Given the description of an element on the screen output the (x, y) to click on. 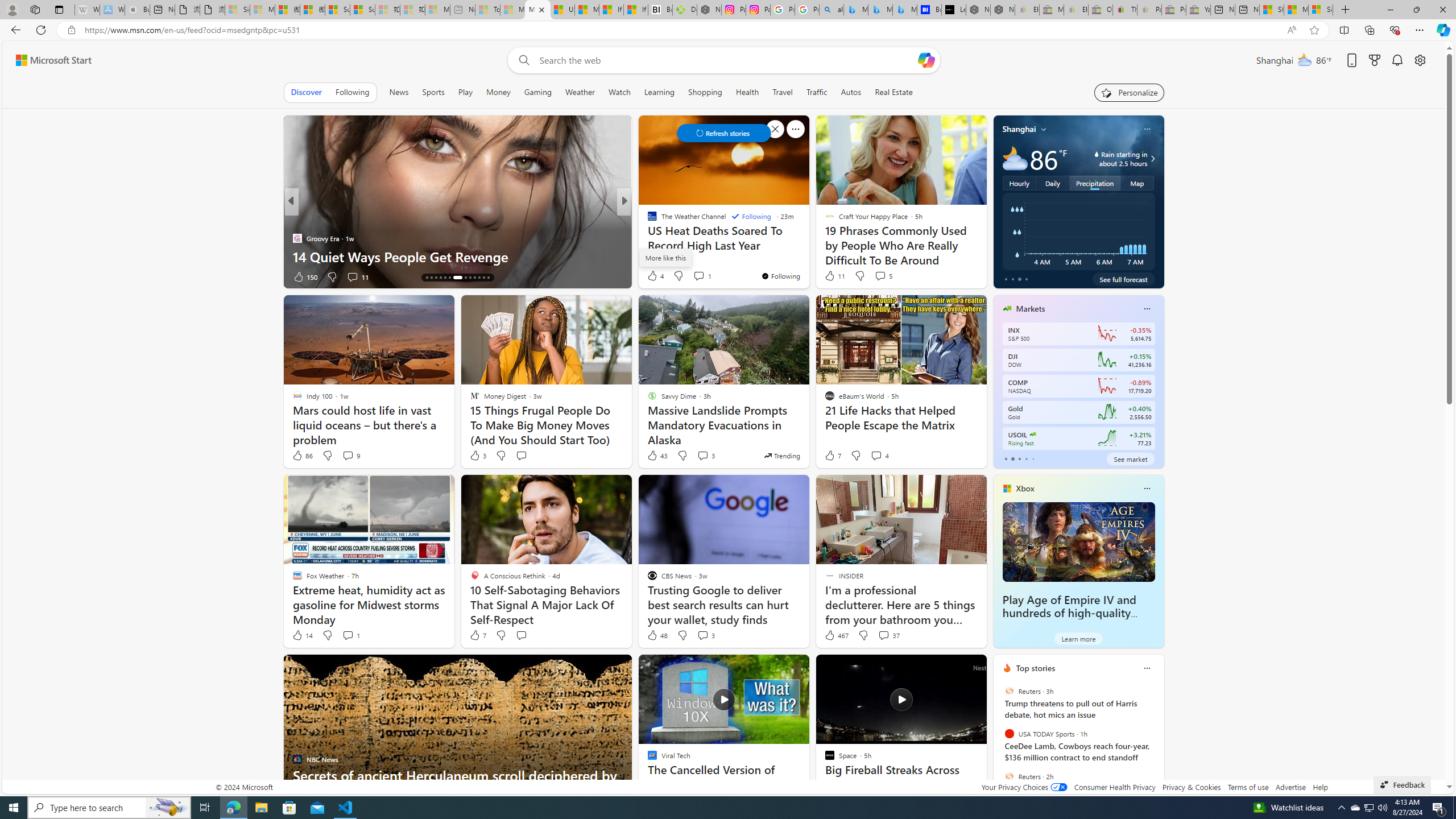
Workspaces (34, 9)
Watch (619, 92)
Start the conversation (521, 635)
Notifications (1397, 60)
Web search (520, 60)
You're following The Weather Channel (780, 275)
Following (751, 216)
tab-4 (1032, 458)
See more (972, 668)
water-drop-icon Rain starting in about 2.5 hours (1110, 158)
Xbox (1025, 488)
13 Like (652, 276)
Press Room - eBay Inc. - Sleeping (1174, 9)
